Given the description of an element on the screen output the (x, y) to click on. 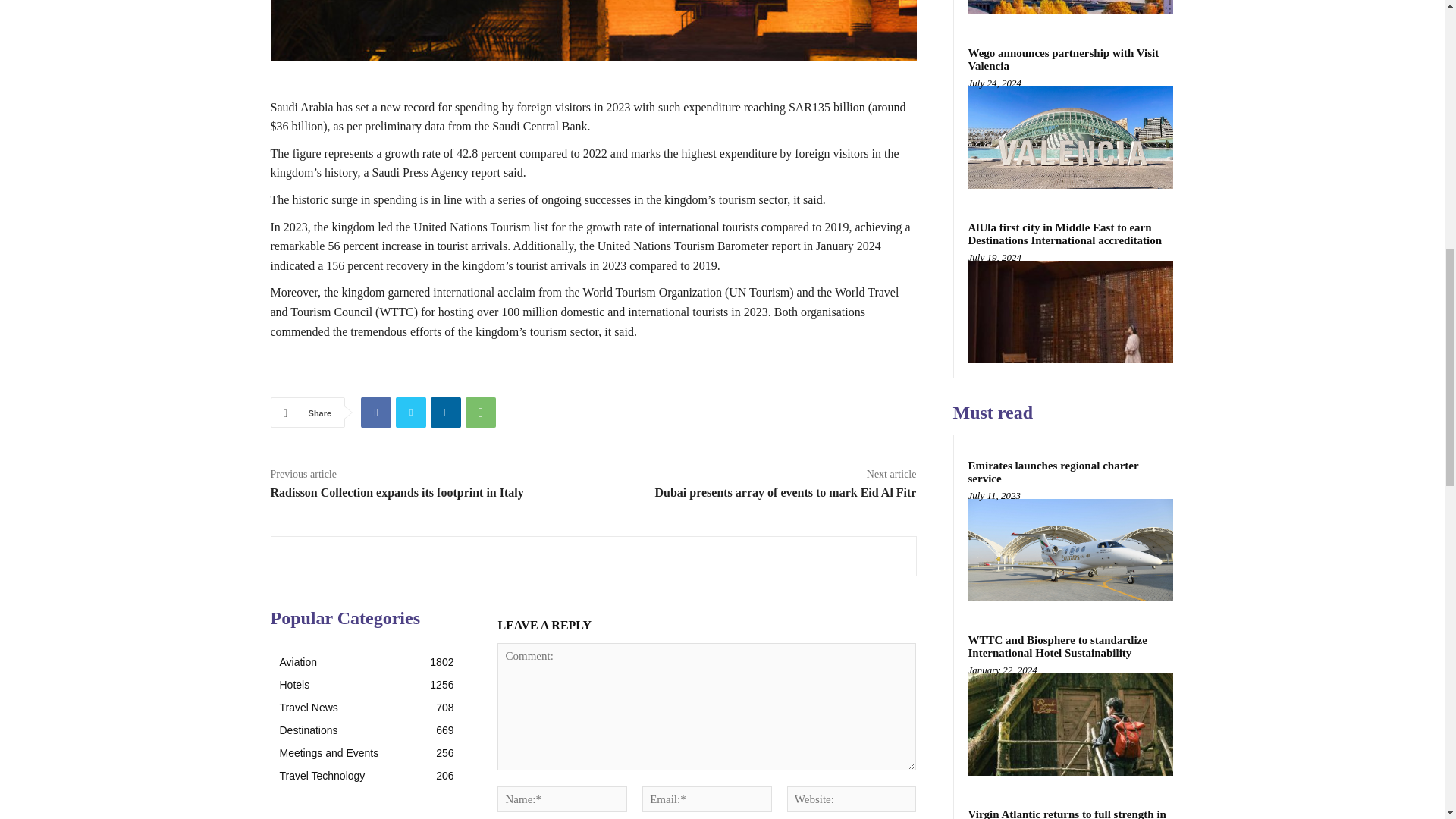
Facebook (376, 412)
Linkedin (445, 412)
Twitter (411, 412)
